Given the description of an element on the screen output the (x, y) to click on. 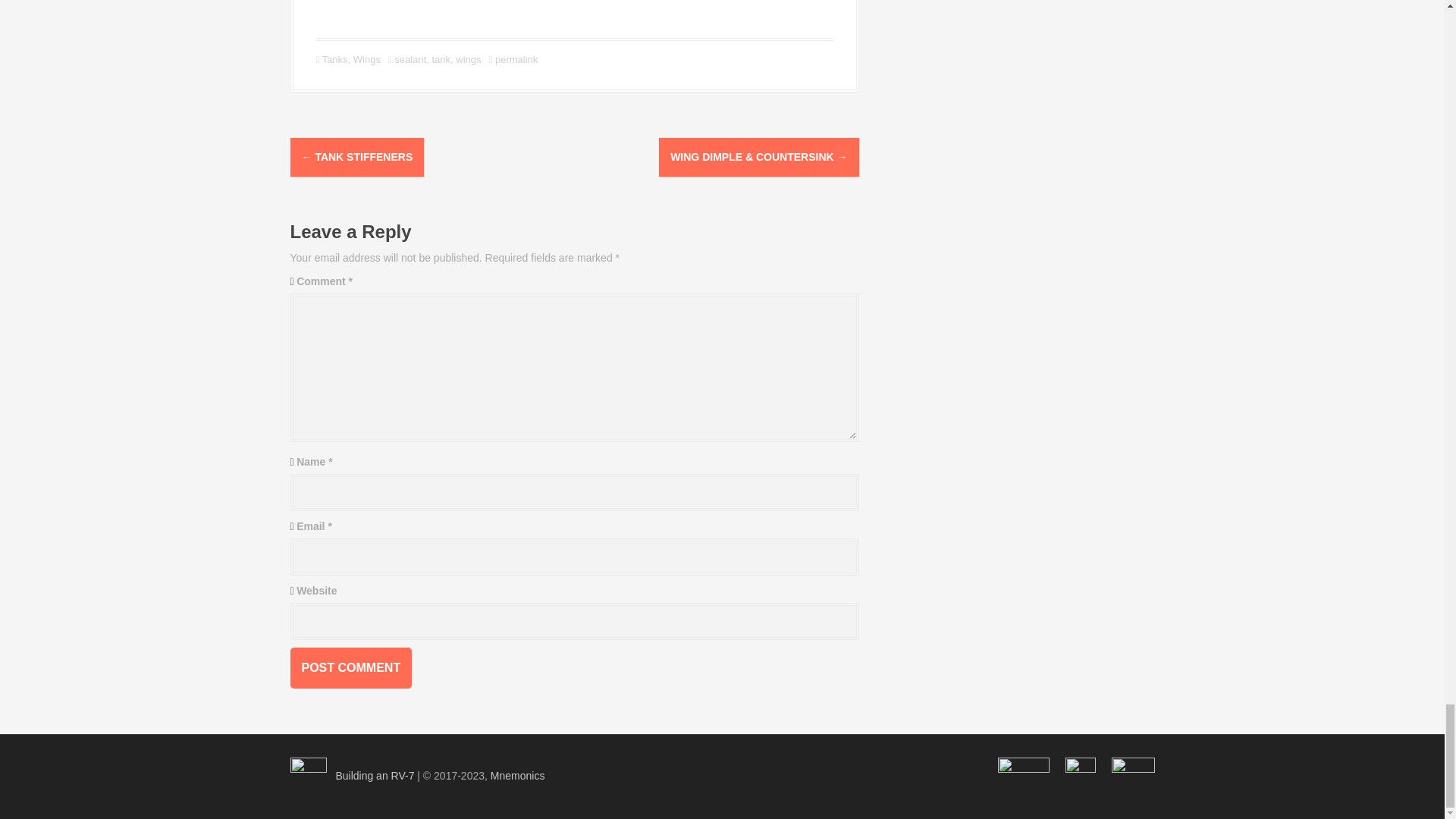
Tanks (334, 59)
Post Comment (350, 667)
Post Comment (350, 667)
Wings (366, 59)
permalink (514, 59)
wings (467, 59)
sealant (410, 59)
tank (441, 59)
